Given the description of an element on the screen output the (x, y) to click on. 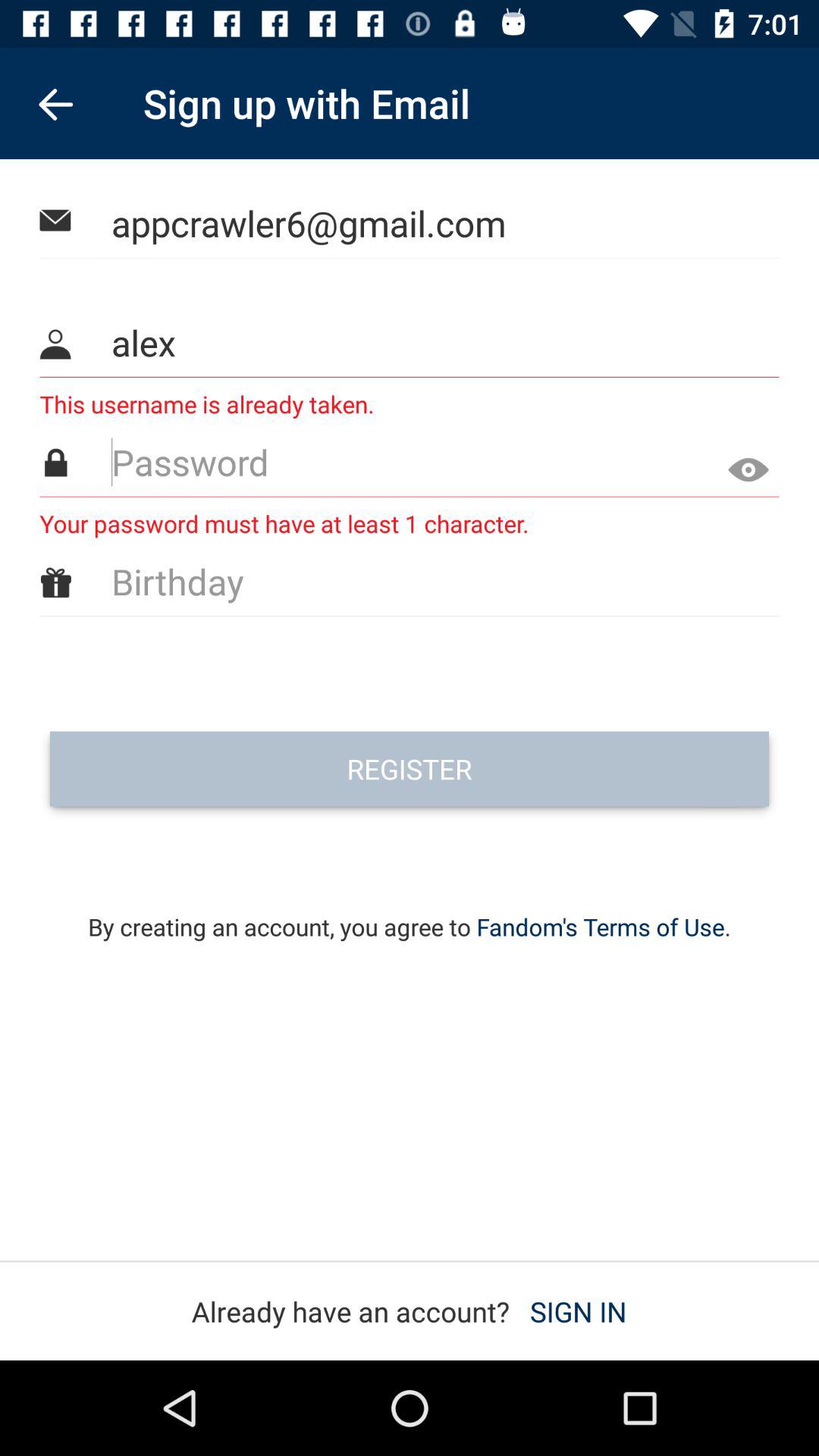
open icon below register (409, 906)
